Given the description of an element on the screen output the (x, y) to click on. 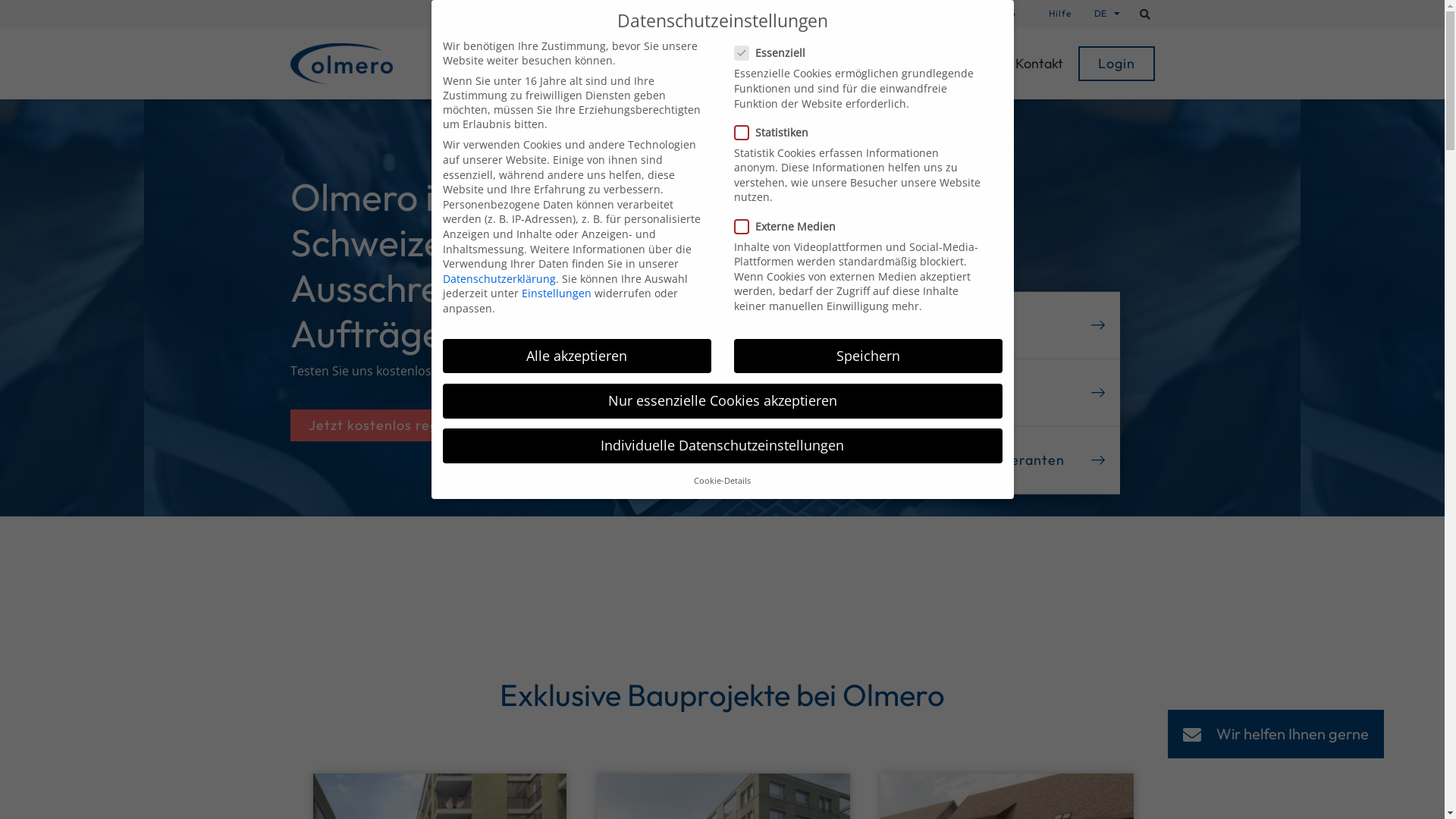
Jetzt kostenlos registrieren Element type: text (401, 425)
DE Element type: text (1102, 13)
Individuelle Datenschutzeinstellungen Element type: text (722, 445)
Speichern Element type: text (868, 355)
Preise Element type: text (862, 63)
Cookie-Details Element type: text (721, 480)
Hilfe Element type: text (1059, 13)
Login Element type: text (1116, 63)
info@olmero.ch Element type: text (842, 13)
Produkte Element type: text (716, 63)
Nur essenzielle Cookies akzeptieren Element type: text (722, 400)
Kontakt Element type: text (1038, 63)
Einstellungen Element type: text (556, 292)
Blog Element type: text (986, 63)
Alle akzeptieren Element type: text (576, 355)
+41 848 656 376 Element type: text (968, 13)
